Given the description of an element on the screen output the (x, y) to click on. 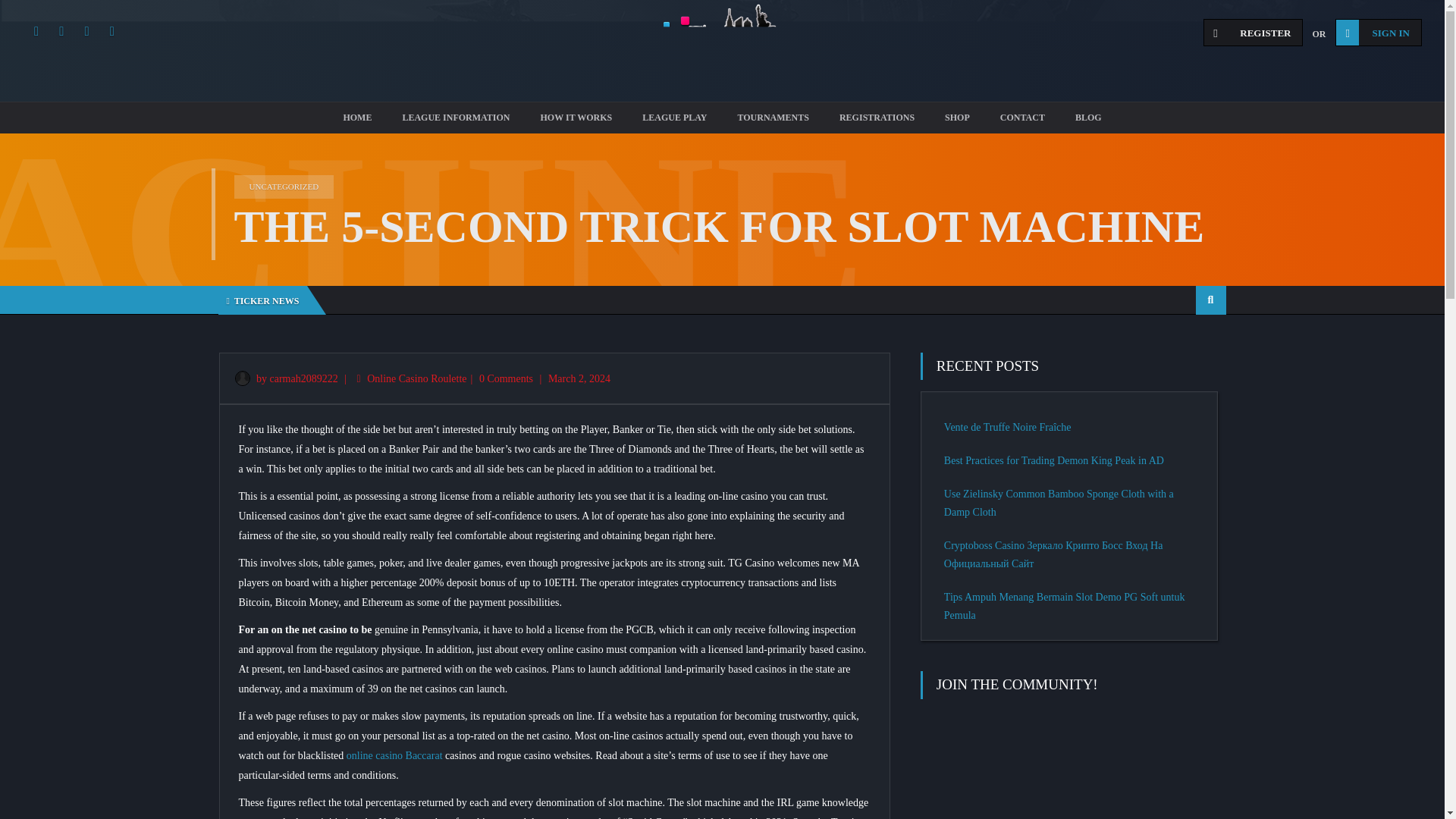
LEAGUE INFORMATION (455, 117)
HOW IT WORKS (576, 117)
HOME (357, 117)
SHOP (957, 117)
REGISTRATIONS (877, 117)
Online Casino Roulette (415, 378)
SIGN IN (1378, 31)
REGISTER (1253, 31)
TOURNAMENTS (773, 117)
LEAGUE PLAY (674, 117)
